Given the description of an element on the screen output the (x, y) to click on. 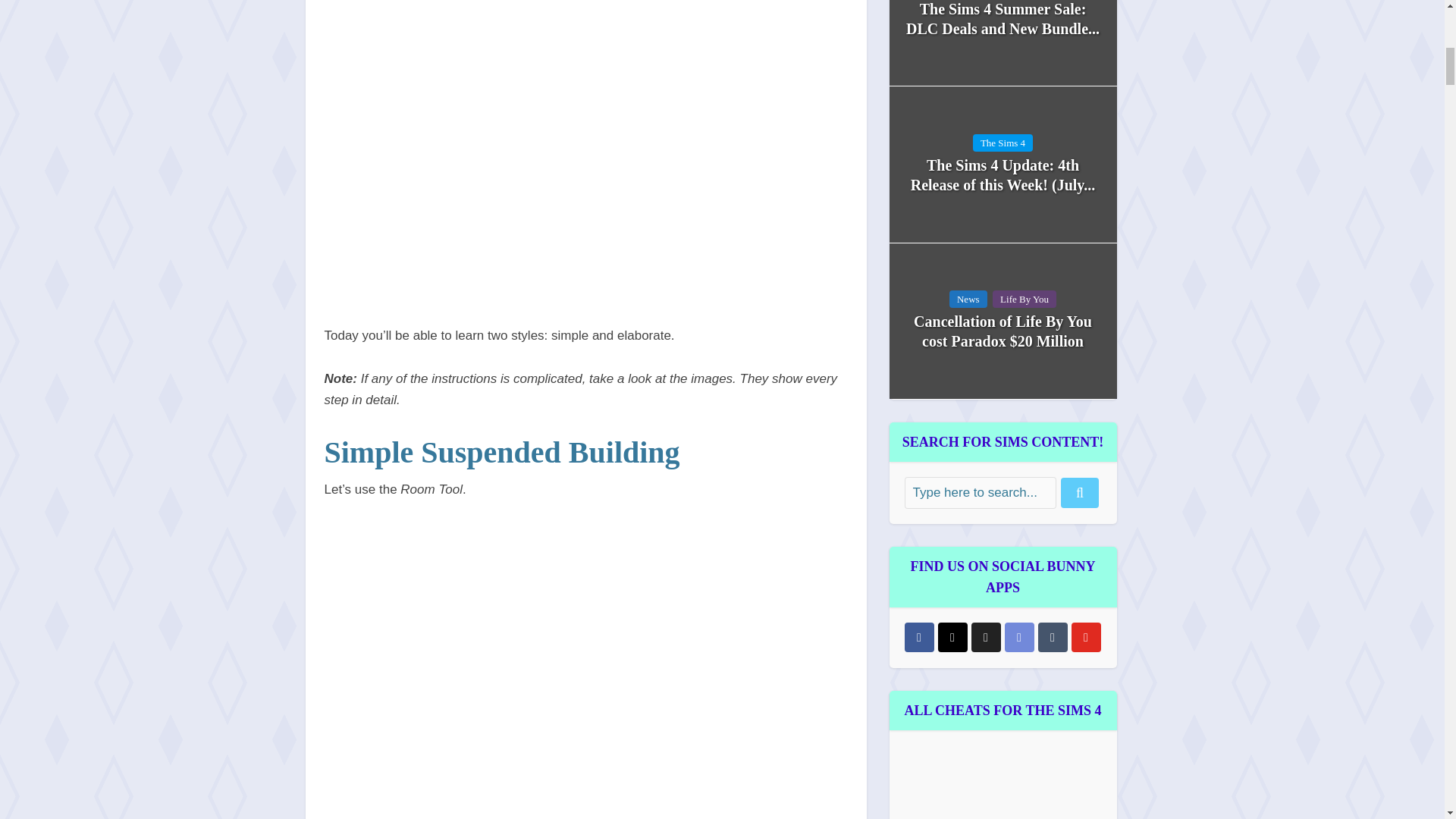
Type here to search... (979, 492)
Type here to search... (979, 492)
